Given the description of an element on the screen output the (x, y) to click on. 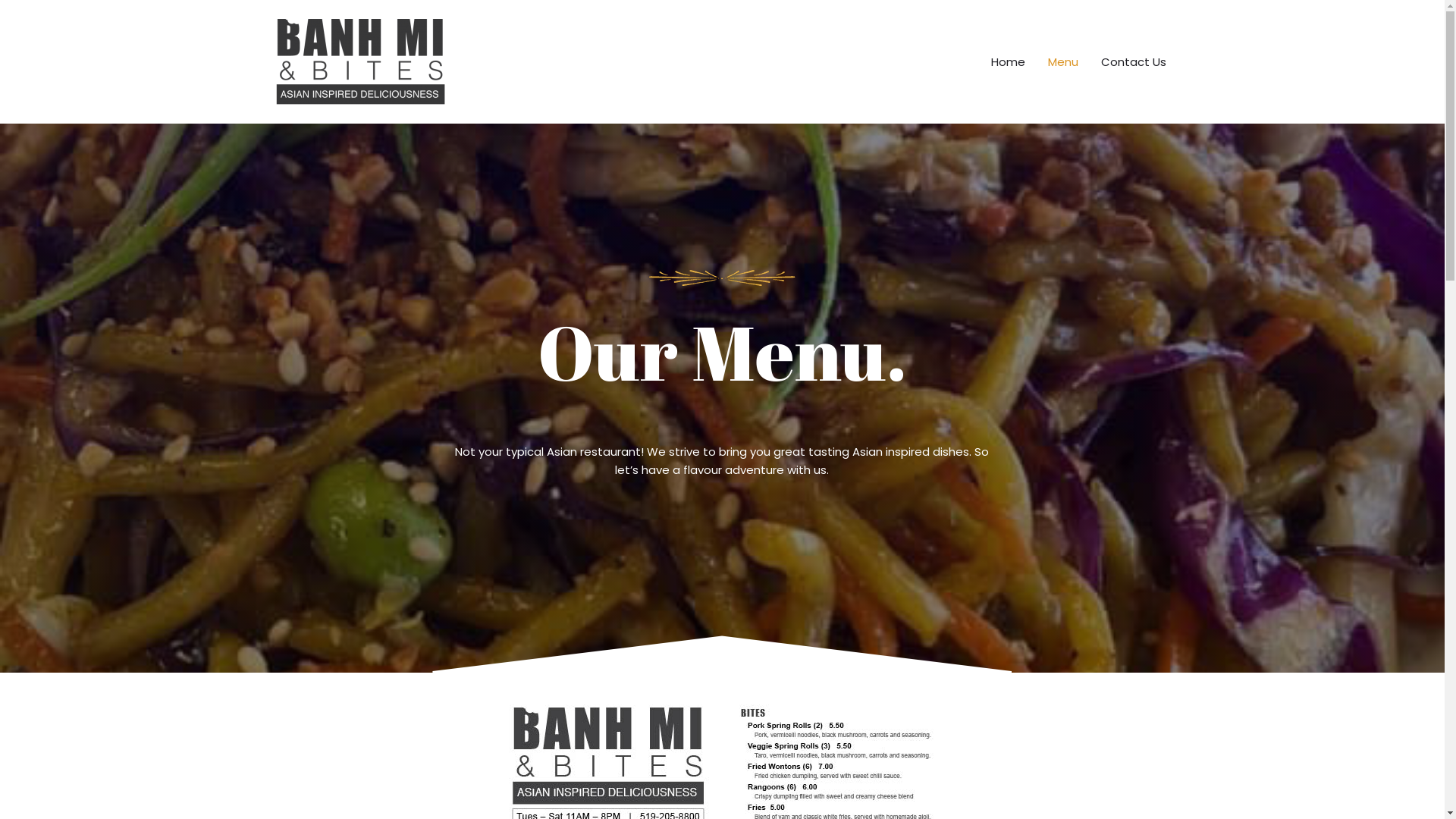
Home Element type: text (1007, 61)
Menu Element type: text (1061, 61)
Contact Us Element type: text (1132, 61)
